Given the description of an element on the screen output the (x, y) to click on. 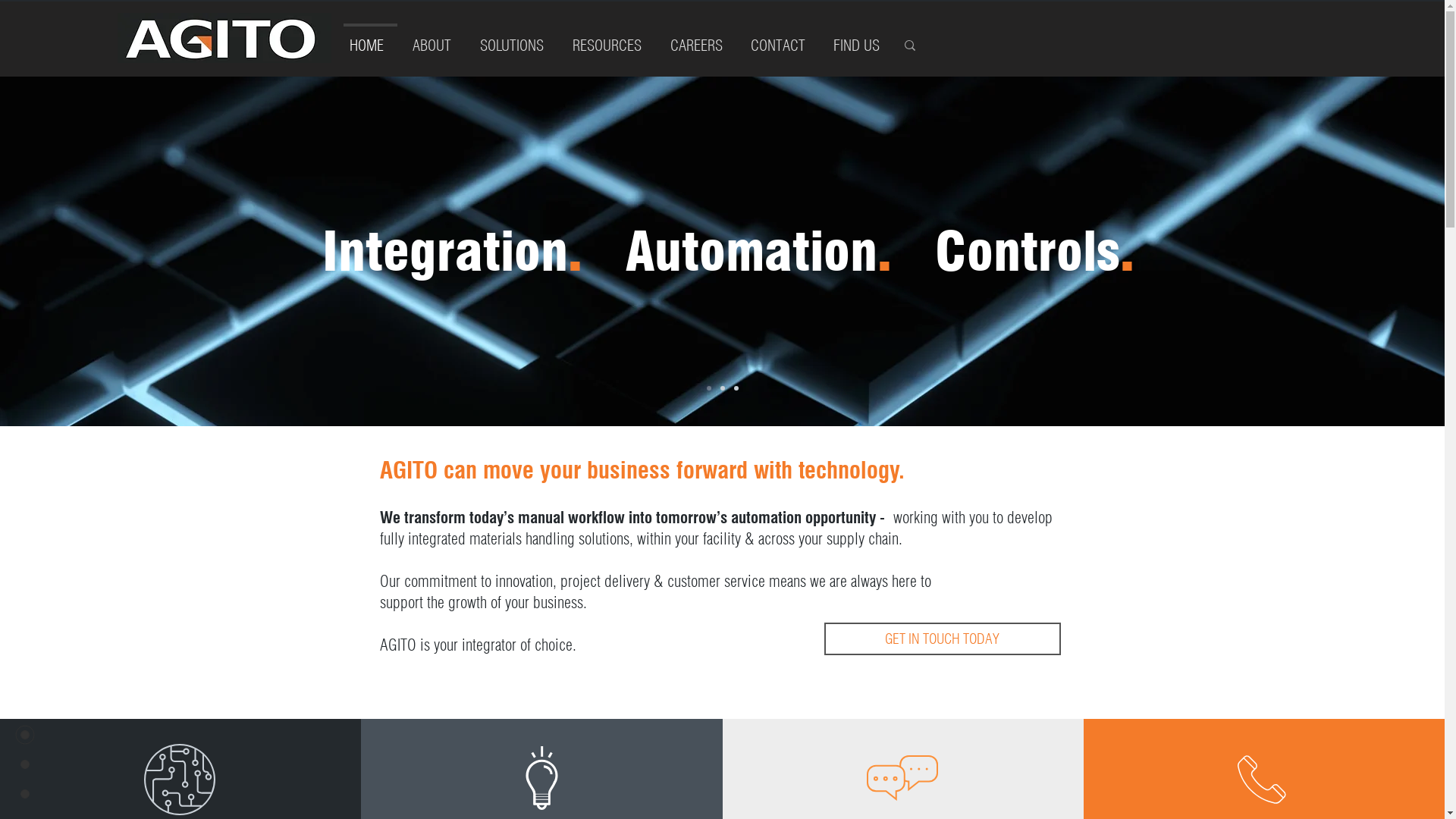
SOLUTIONS Element type: text (515, 38)
RESOURCES Element type: text (610, 38)
CAREERS Element type: text (699, 38)
ABOUT Element type: text (435, 38)
HOME Element type: text (369, 38)
CONTACT Element type: text (781, 38)
FIND US Element type: text (859, 38)
GET IN TOUCH TODAY Element type: text (941, 638)
